Given the description of an element on the screen output the (x, y) to click on. 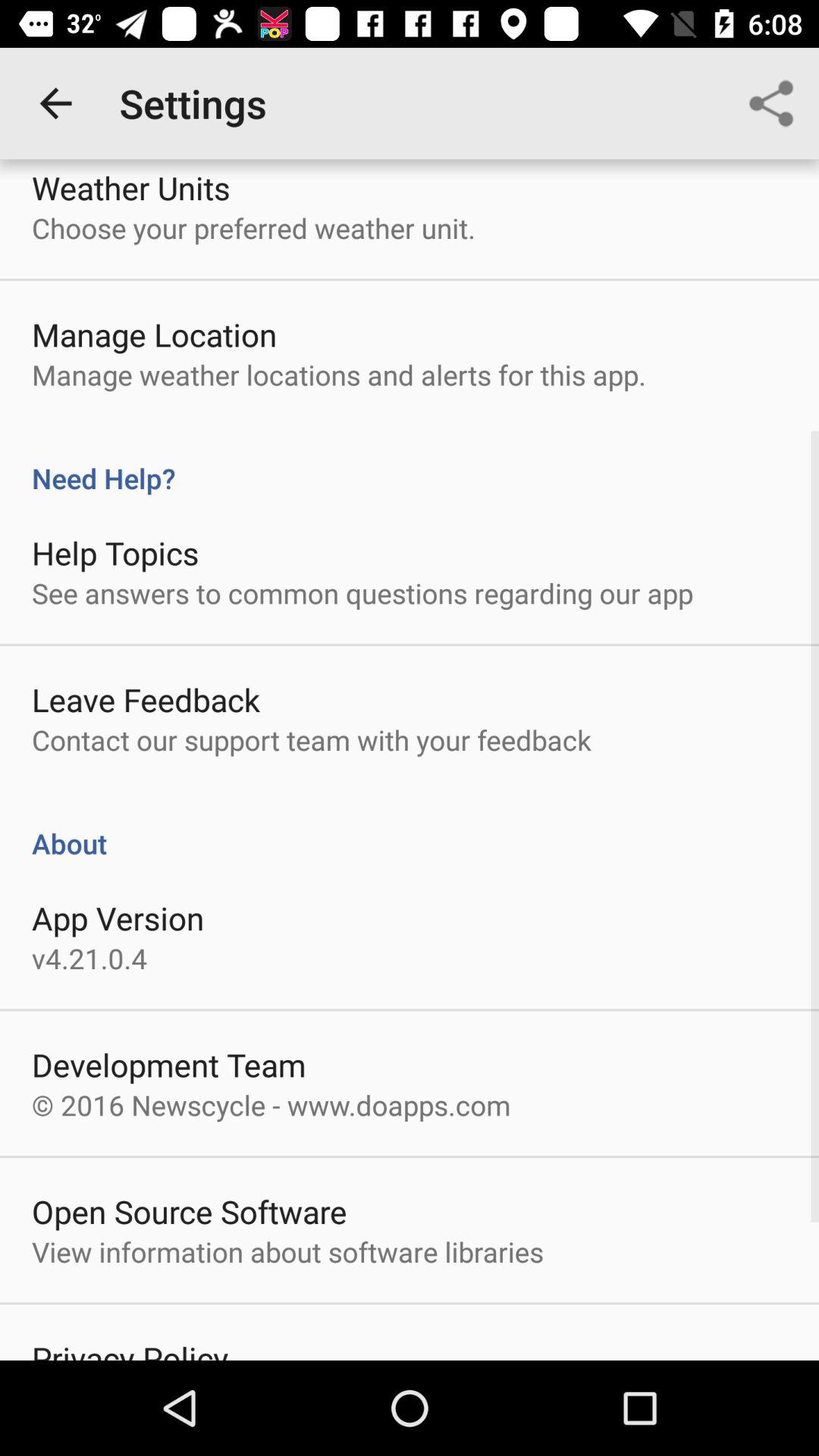
tap icon above weather units (55, 103)
